Given the description of an element on the screen output the (x, y) to click on. 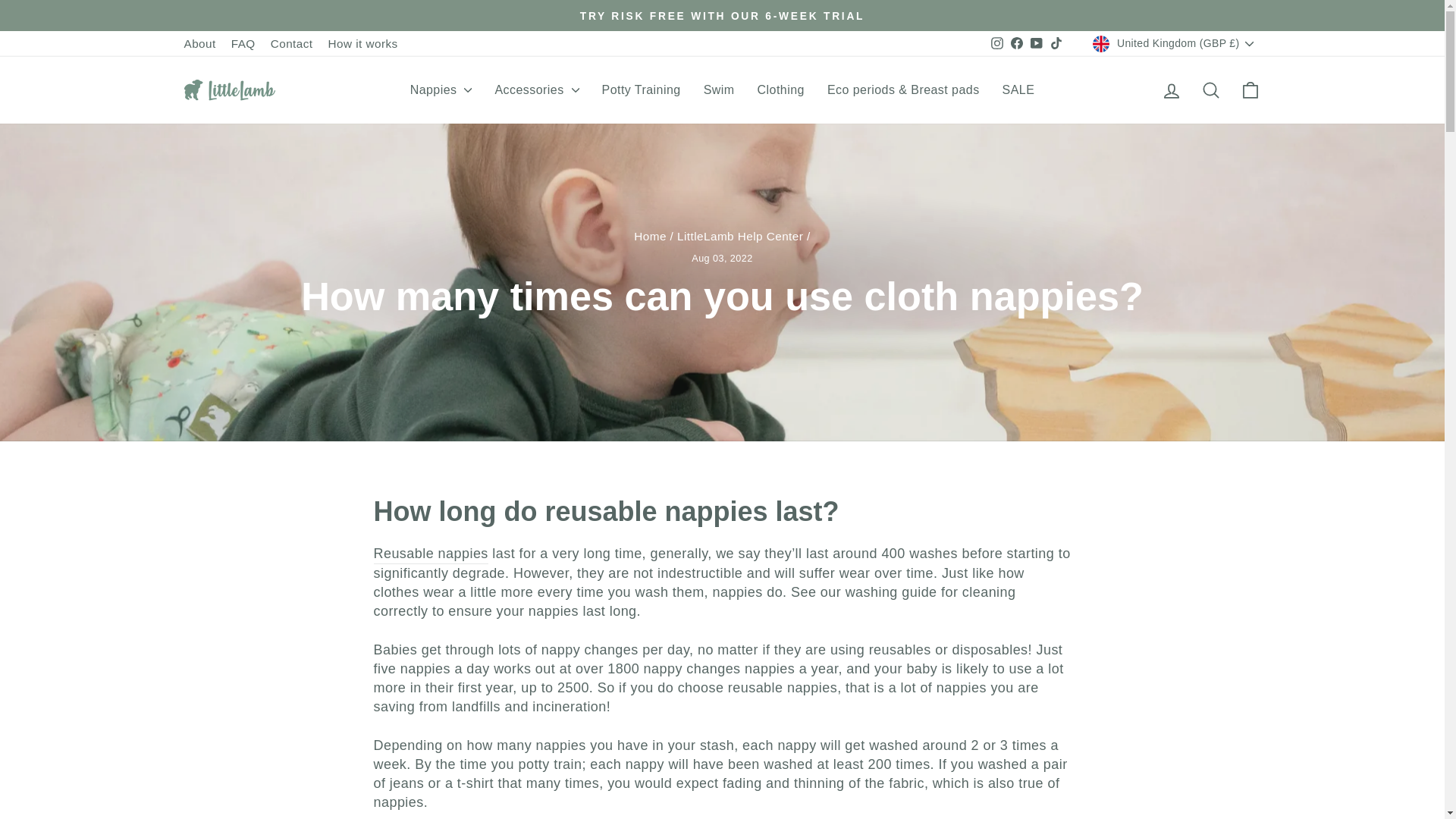
About (199, 43)
TRY RISK FREE WITH OUR 6-WEEK TRIAL (722, 15)
little lamb reusable nappies (429, 554)
Back to the frontpage (649, 236)
icon-bag-minimal (1249, 89)
instagram (997, 42)
icon-search (1210, 89)
Contact (291, 43)
How it works (363, 43)
account (1170, 90)
FAQ (243, 43)
